Given the description of an element on the screen output the (x, y) to click on. 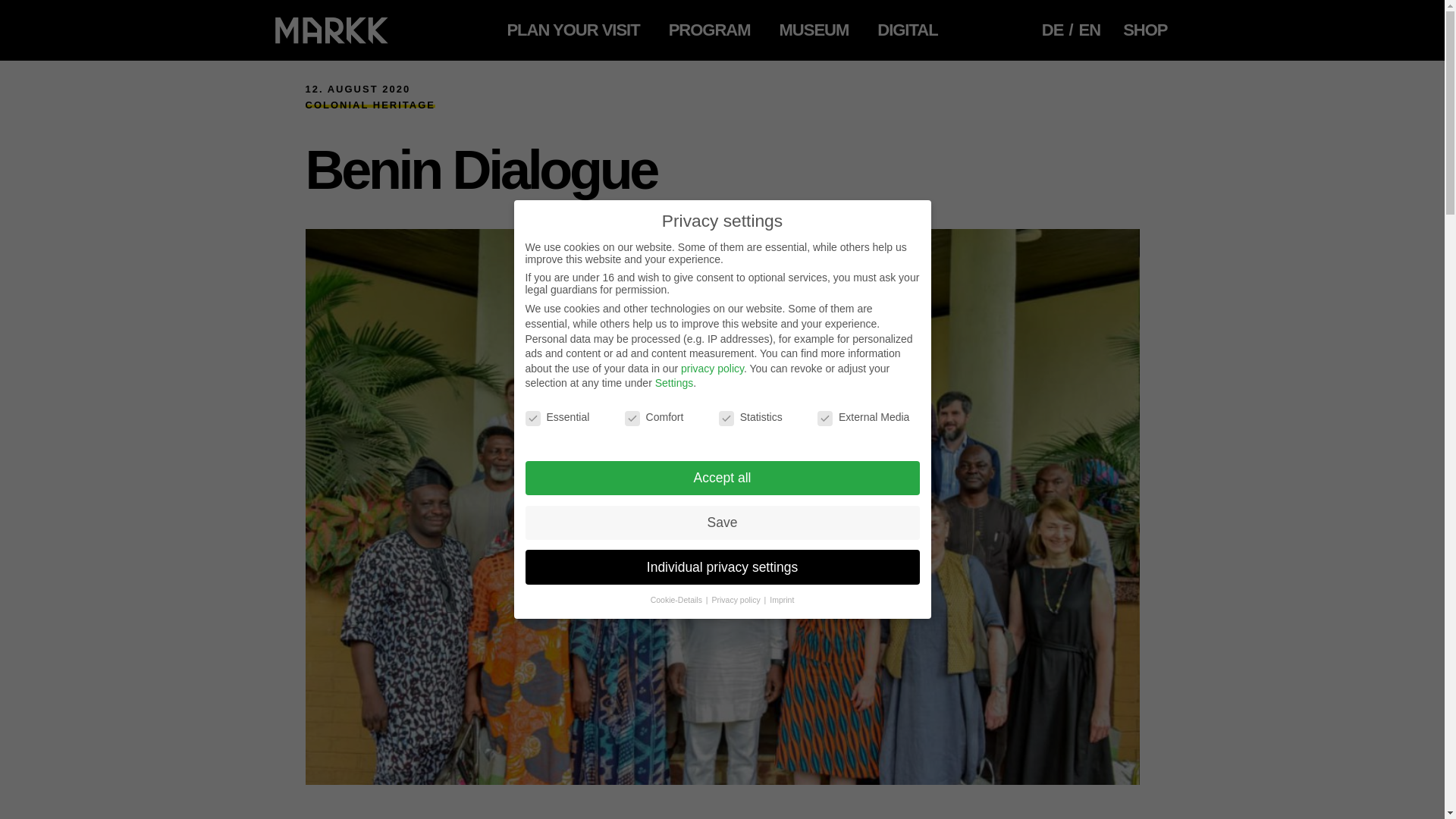
PROGRAM (709, 29)
MUSEUM (813, 29)
PLAN YOUR VISIT (572, 29)
Home (331, 29)
